Given the description of an element on the screen output the (x, y) to click on. 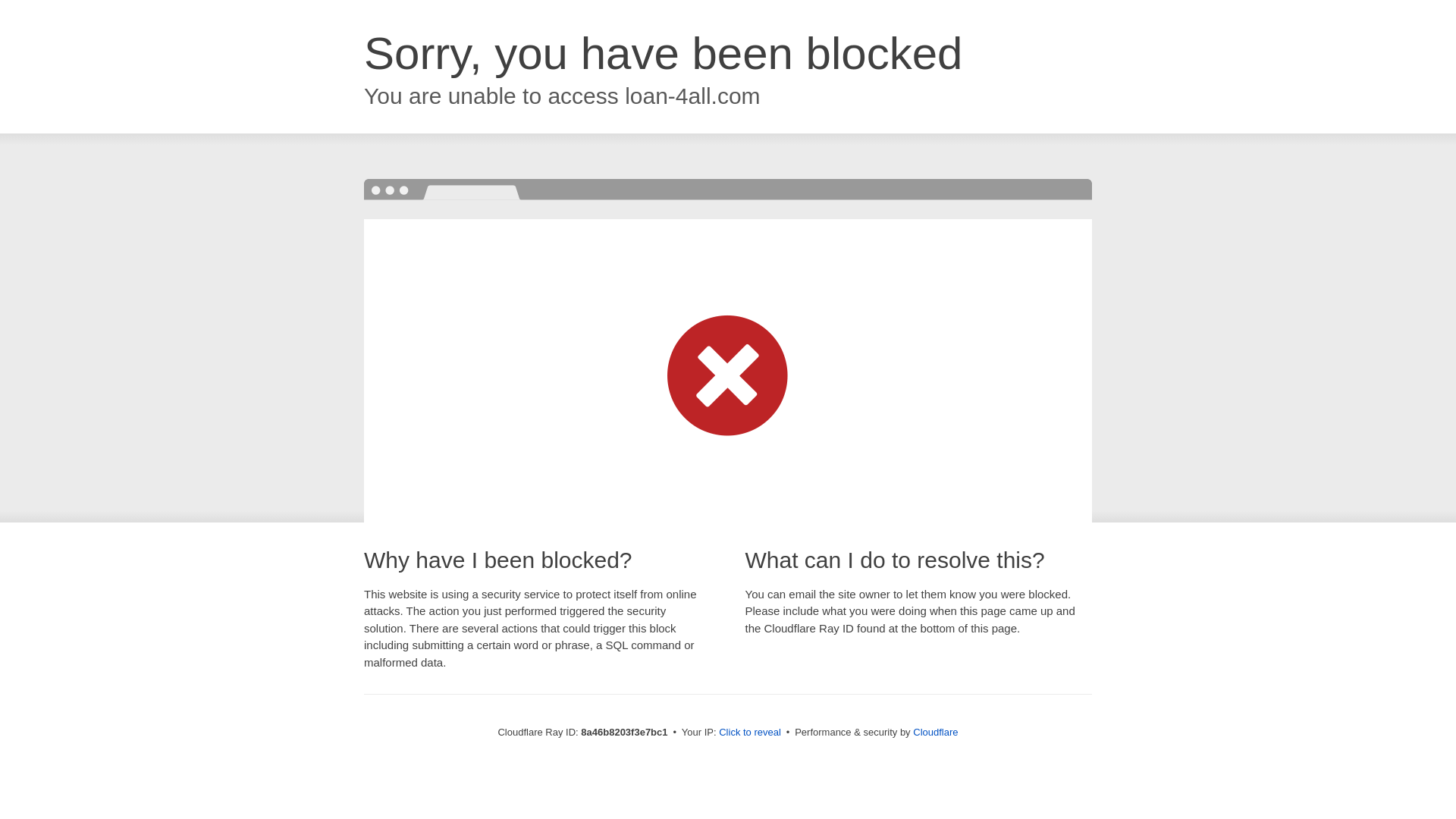
Cloudflare (935, 731)
Click to reveal (749, 732)
